Given the description of an element on the screen output the (x, y) to click on. 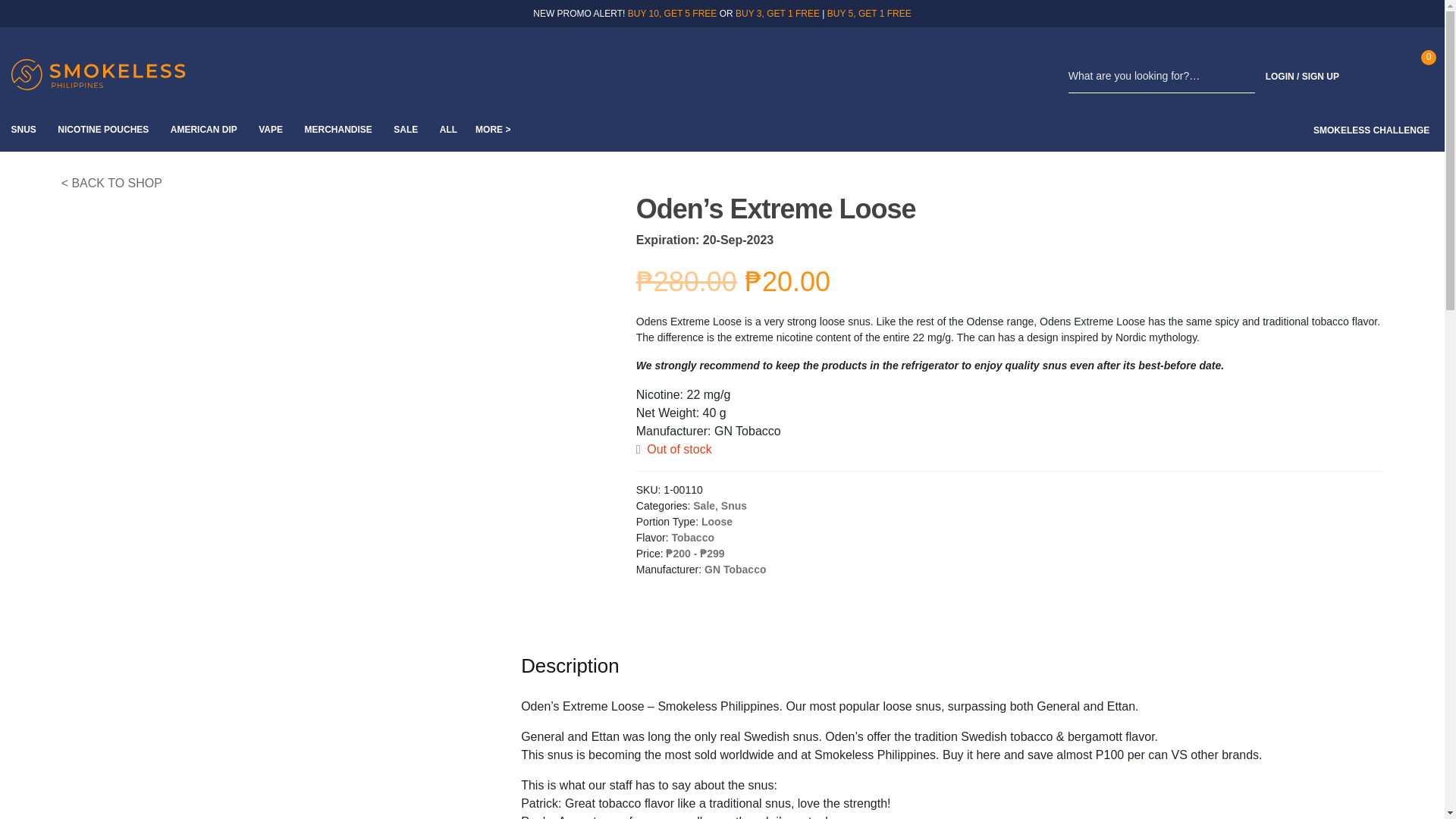
BUY 5, GET 1 FREE (869, 13)
AMERICAN DIP (203, 129)
BUY 10, GET 5 FREE (672, 13)
SNUS (23, 129)
NICOTINE POUCHES (102, 129)
MERCHANDISE (337, 129)
BUY 3, GET 1 FREE (777, 13)
VAPE (270, 129)
Sale (703, 505)
